Given the description of an element on the screen output the (x, y) to click on. 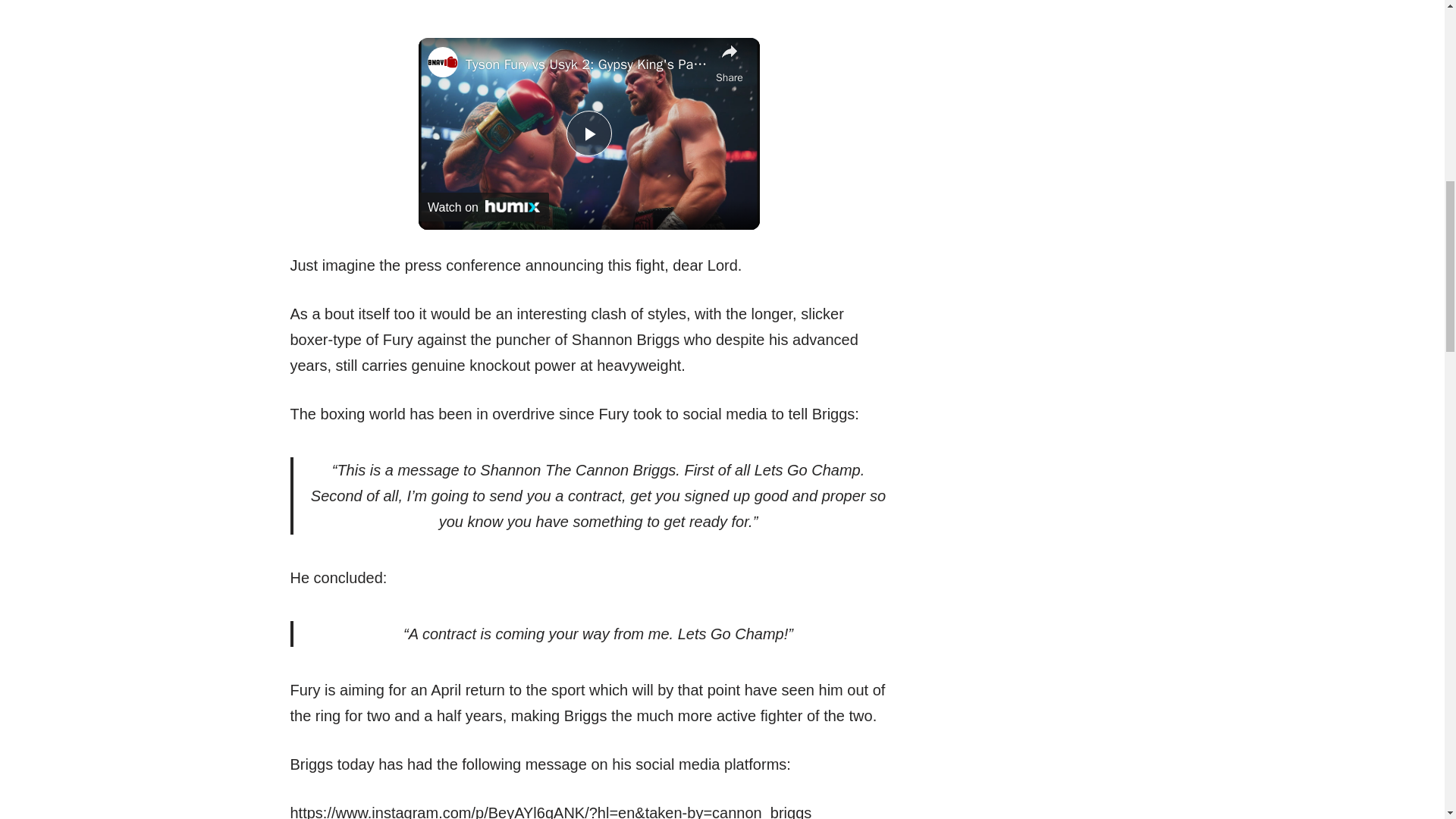
Play Video (588, 133)
Tyson Fury vs Usyk 2: Gypsy King's Path to Victory (586, 63)
Play Video (588, 133)
Watch on (483, 206)
